Given the description of an element on the screen output the (x, y) to click on. 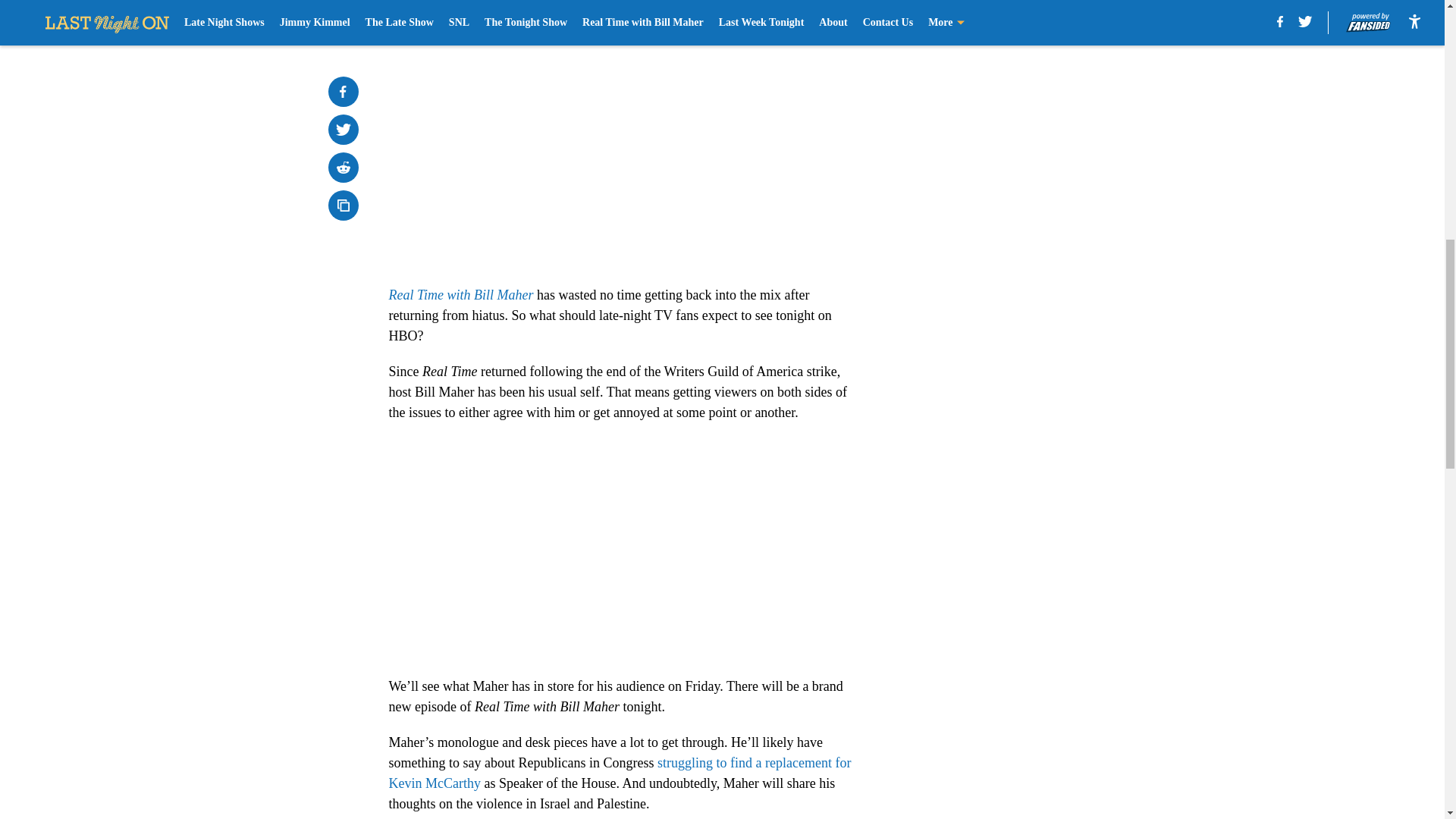
struggling to find a replacement for Kevin McCarthy (619, 773)
Real Time with Bill Maher (460, 294)
